Given the description of an element on the screen output the (x, y) to click on. 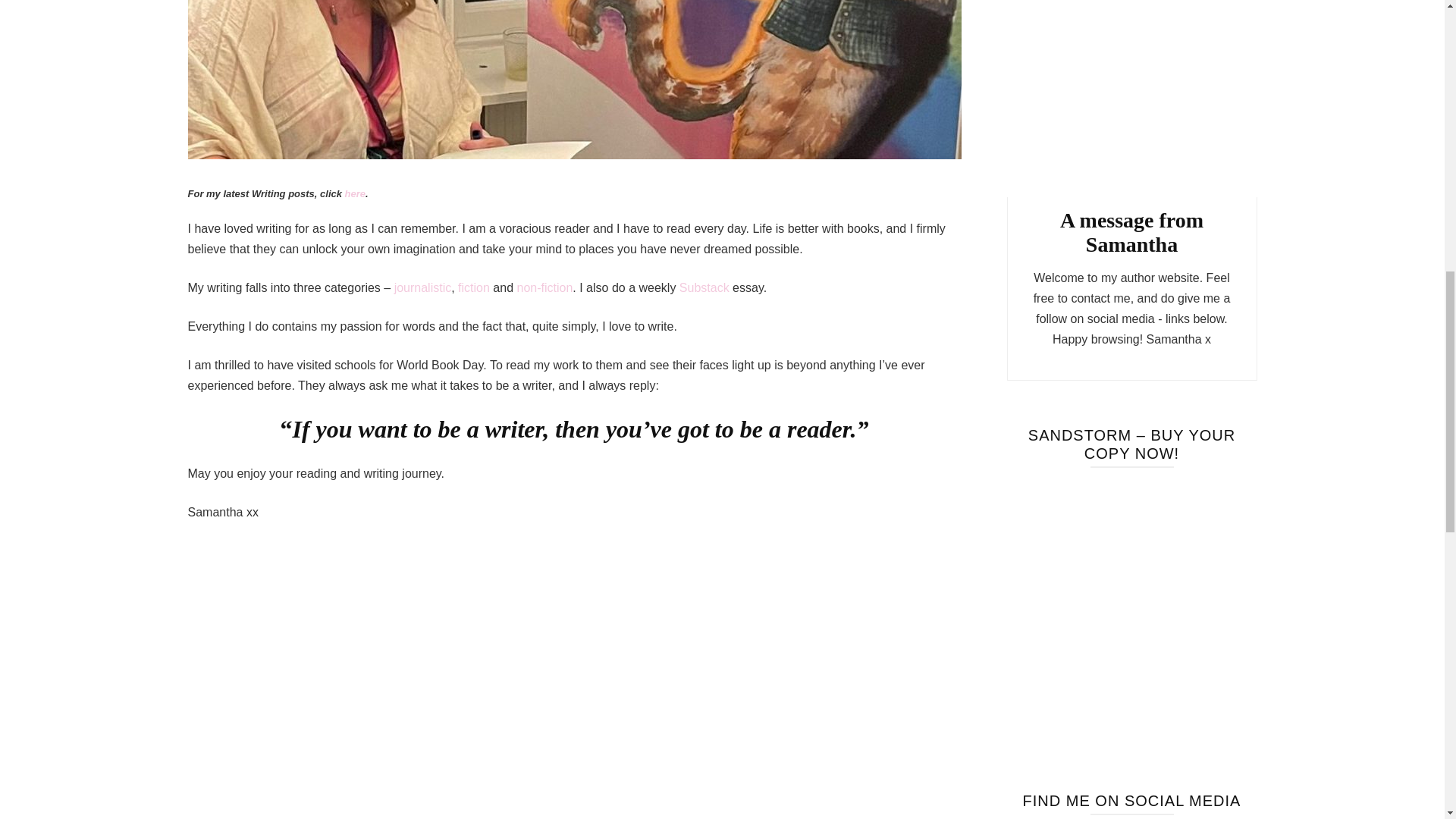
journalistic (422, 287)
fiction (475, 287)
Substack (705, 287)
here (355, 193)
non-fiction (544, 287)
